Given the description of an element on the screen output the (x, y) to click on. 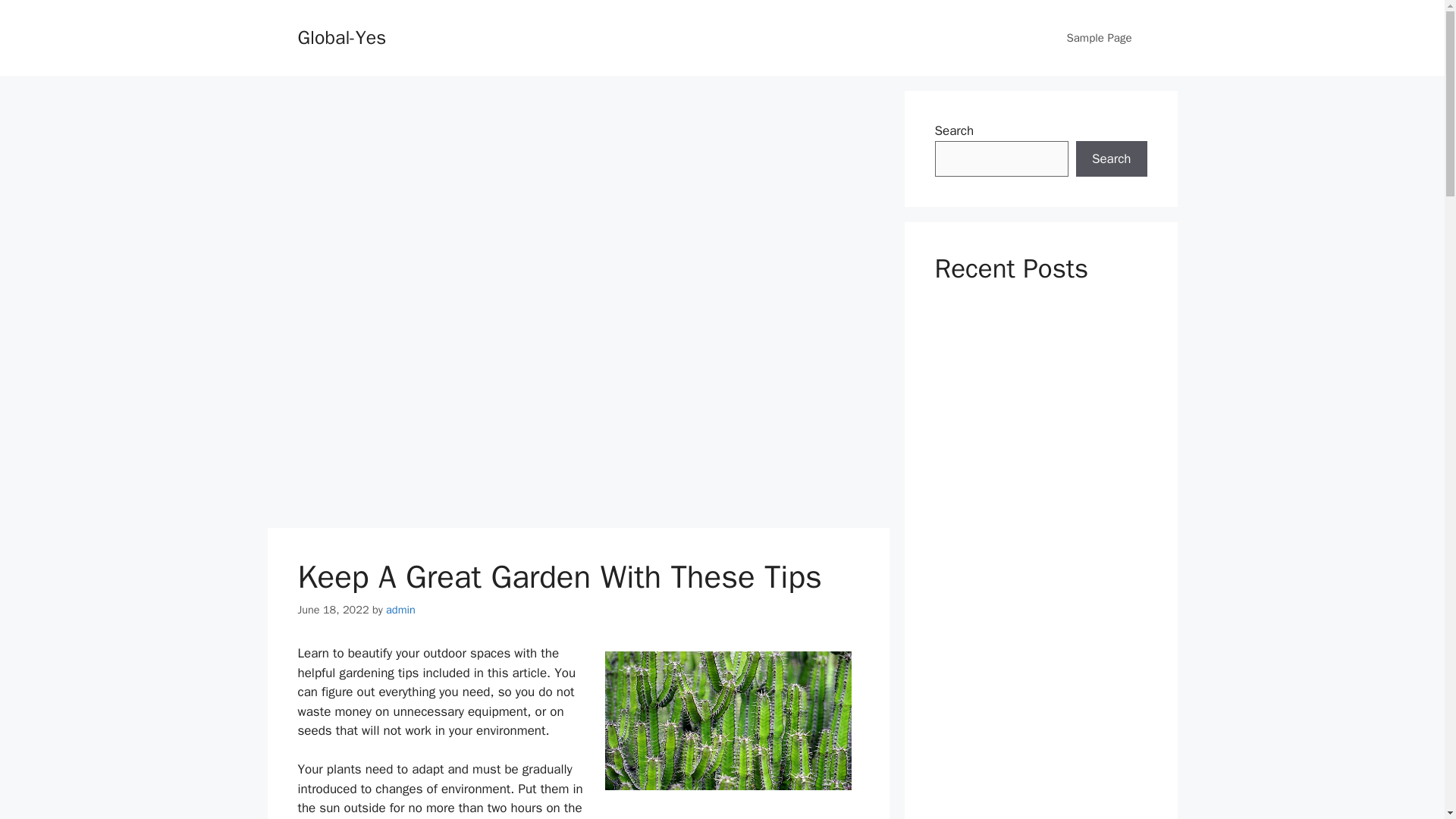
Search (1111, 158)
View all posts by admin (399, 609)
Sample Page (1099, 37)
admin (399, 609)
Global-Yes (341, 37)
Advertisement (577, 196)
Advertisement (577, 415)
